Given the description of an element on the screen output the (x, y) to click on. 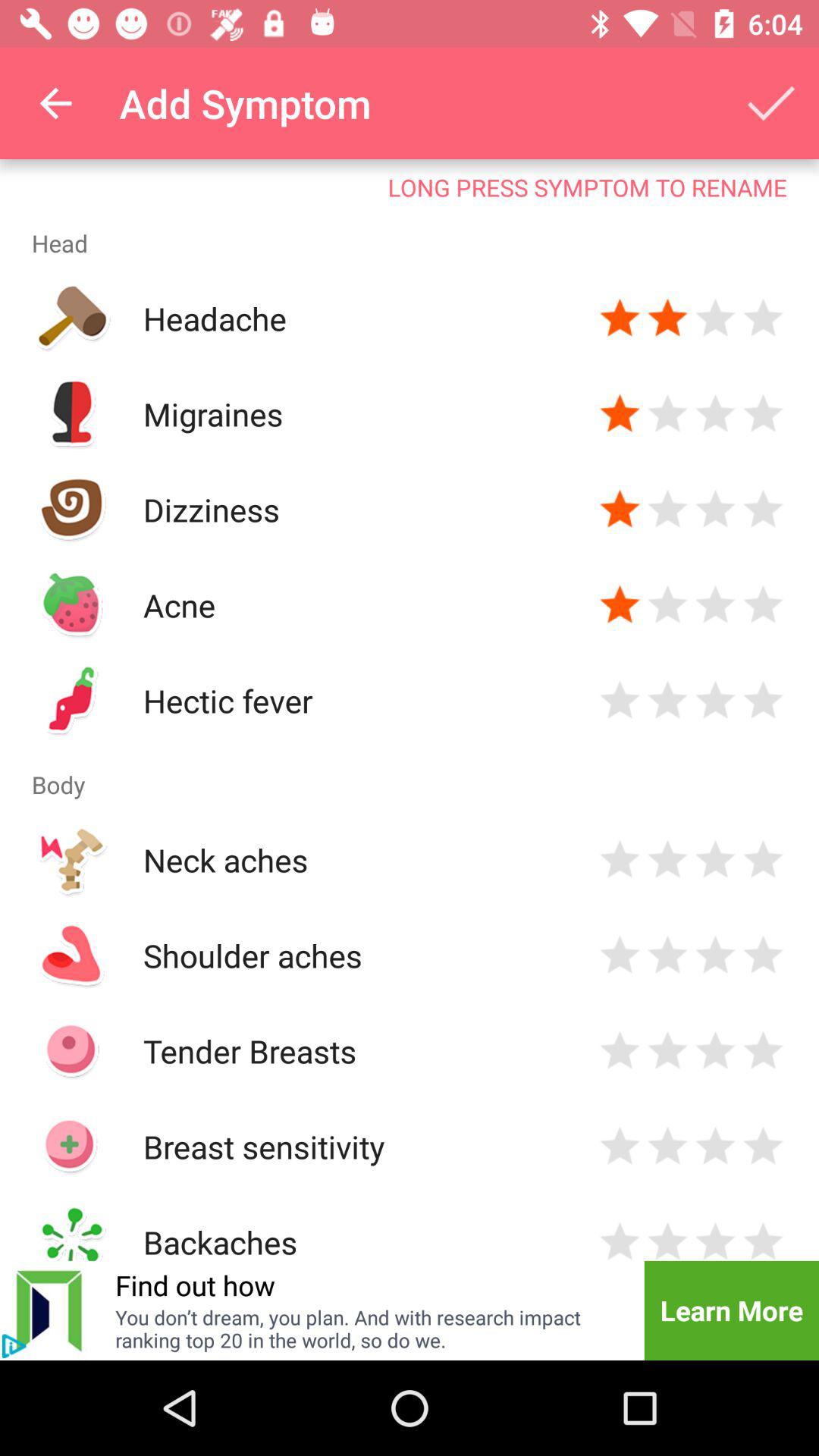
put three stars to migraines (715, 413)
